Given the description of an element on the screen output the (x, y) to click on. 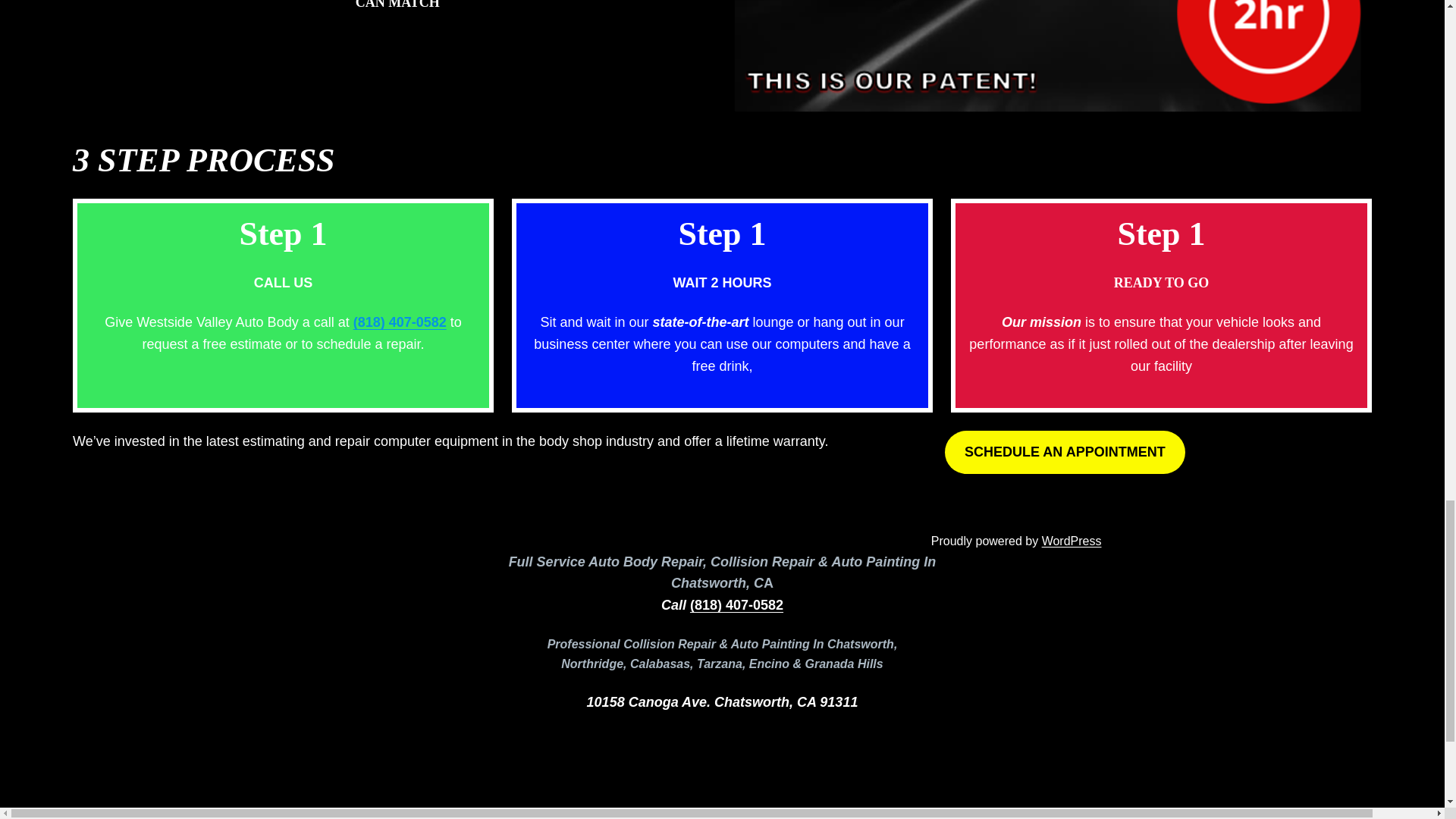
WordPress (1072, 540)
SCHEDULE AN APPOINTMENT (1064, 452)
